Given the description of an element on the screen output the (x, y) to click on. 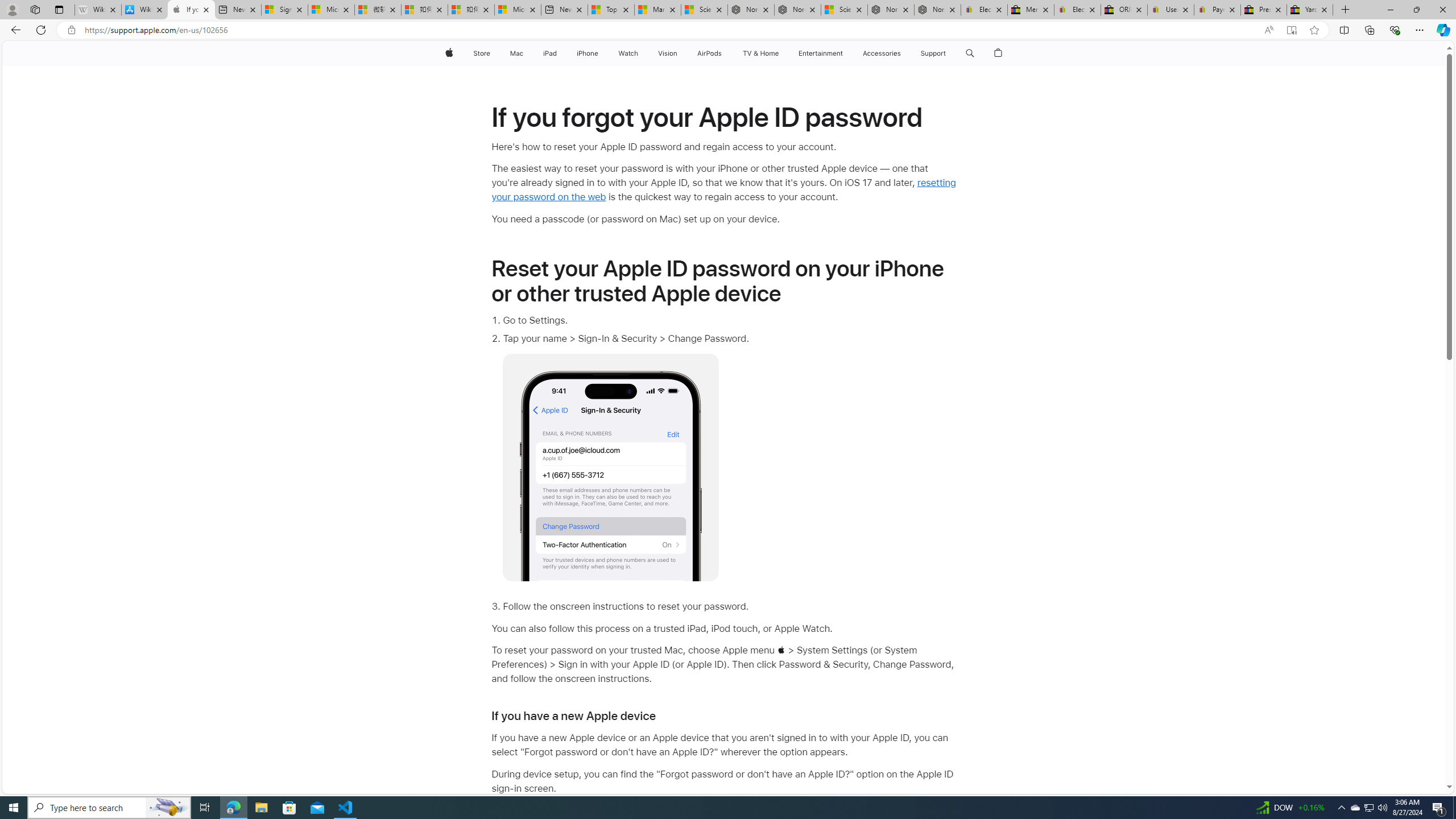
TV and Home menu (780, 53)
AutomationID: globalnav-bag (998, 53)
Search Support (969, 53)
iPhone menu (600, 53)
iPhone (587, 53)
Class: globalnav-item globalnav-search shift-0-1 (969, 53)
Apple (448, 53)
iPhone (587, 53)
